Given the description of an element on the screen output the (x, y) to click on. 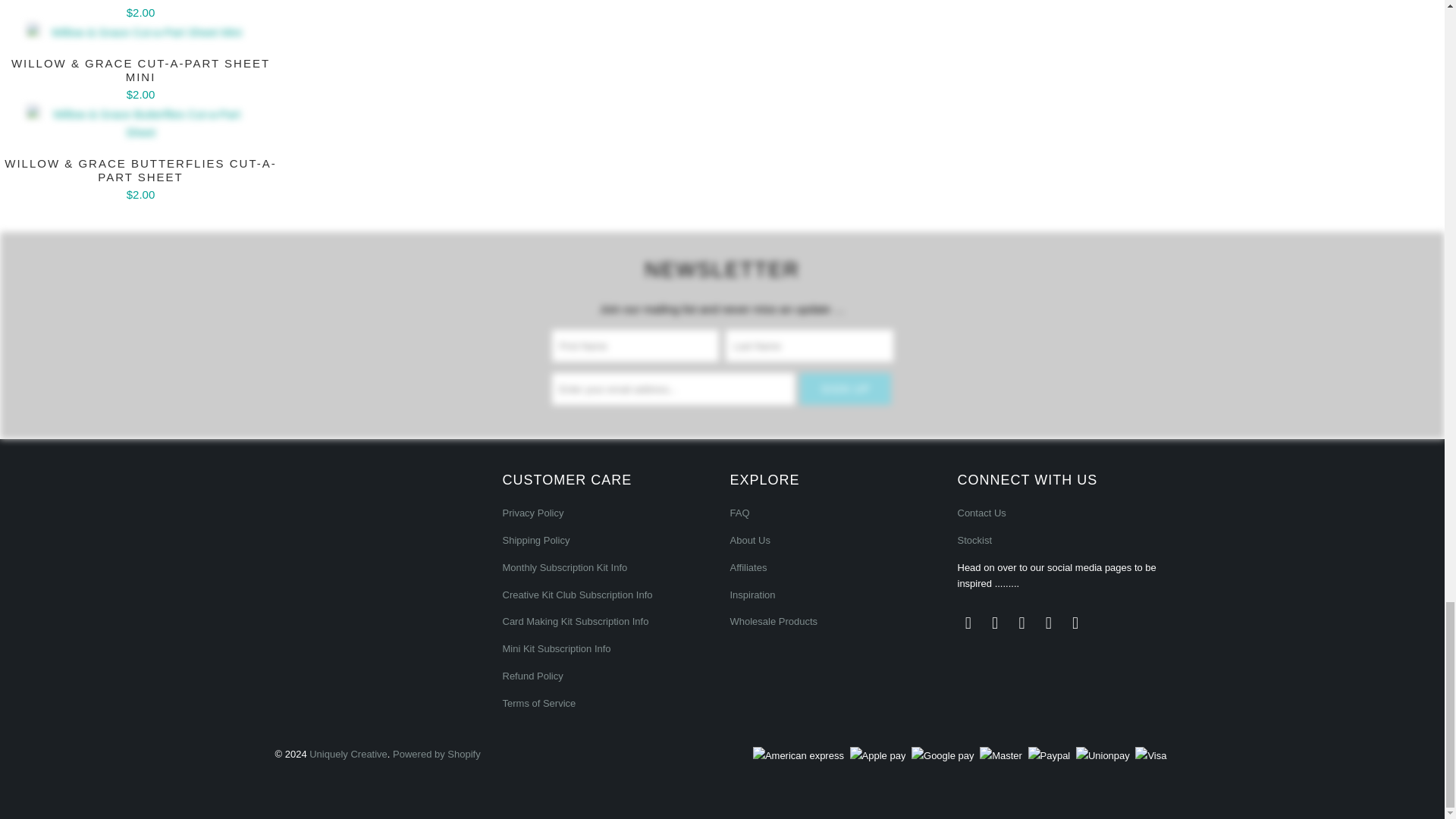
Sign Up (845, 388)
